Given the description of an element on the screen output the (x, y) to click on. 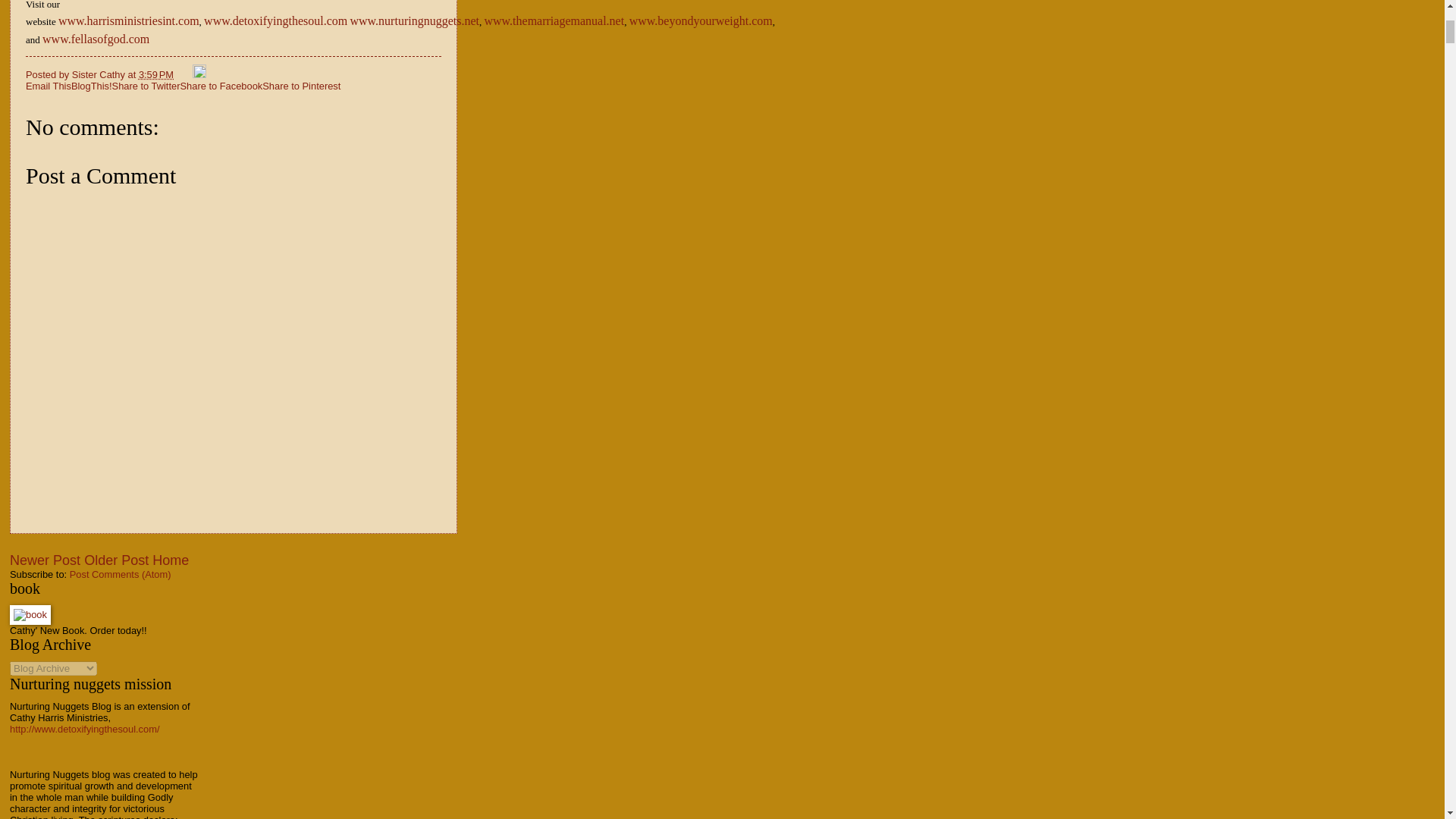
Older Post (116, 560)
Share to Facebook (220, 85)
Share to Facebook (220, 85)
Older Post (116, 560)
www.beyondyourweight.com (700, 20)
Share to Pinterest (301, 85)
Newer Post (45, 560)
Email This (48, 85)
www.fellasofgod.com (95, 38)
permanent link (155, 74)
Share to Pinterest (301, 85)
Email Post (184, 74)
www.themarriagemanual.net (553, 20)
www.detoxifyingthesoul.com (275, 20)
Home (170, 560)
